Given the description of an element on the screen output the (x, y) to click on. 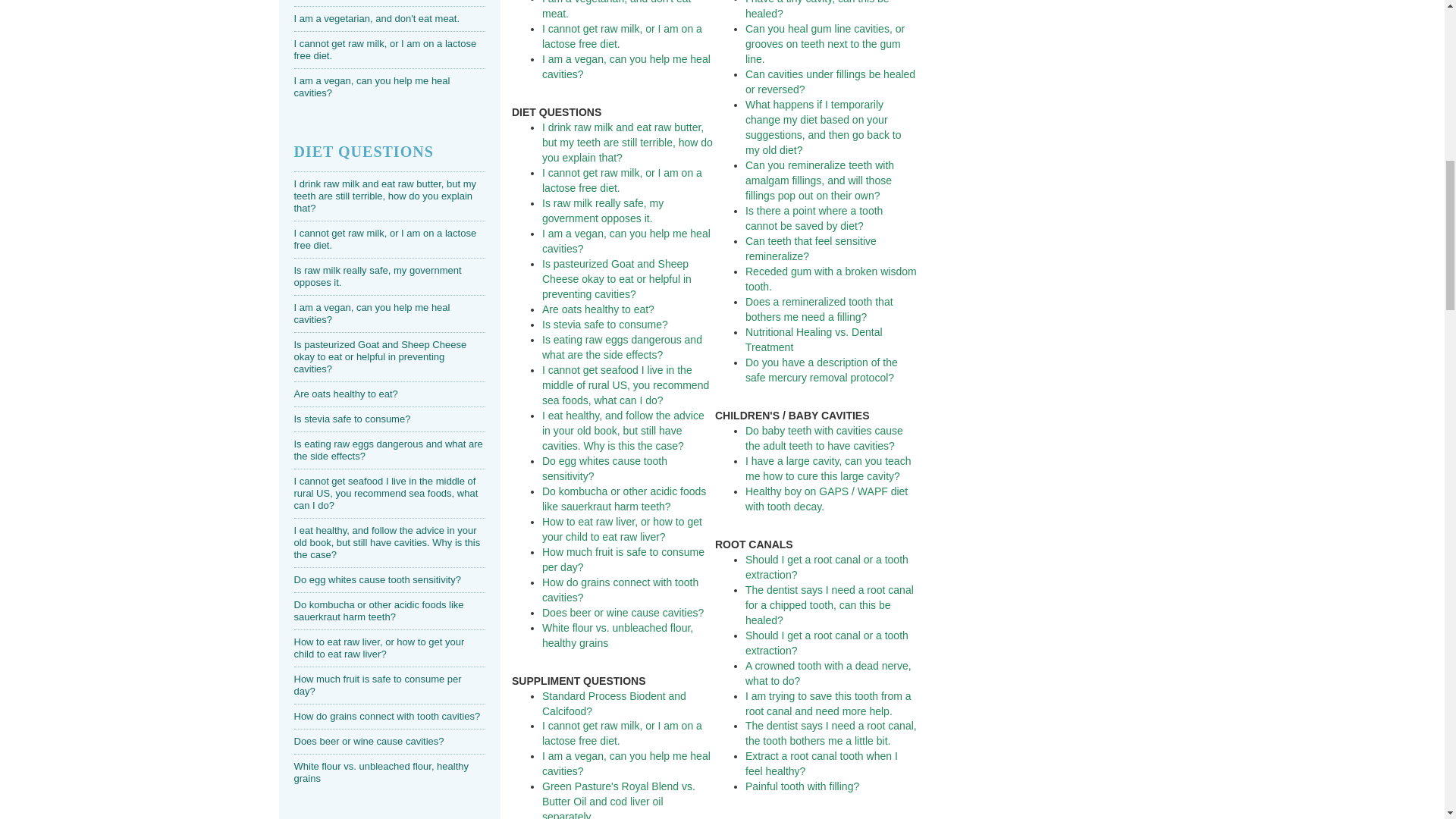
I am a vegan, can you help me heal cavities? (625, 240)
Is eating raw eggs dangerous and what are the side effects? (621, 347)
I am a vegan, can you help me heal cavities? (625, 66)
Do egg whites cause tooth sensitivity? (603, 468)
I cannot get raw milk, or I am on a lactose free diet. (621, 35)
Are oats healthy to eat? (597, 309)
Is stevia safe to consume? (604, 324)
I cannot get raw milk, or I am on a lactose free diet. (621, 180)
I am a vegetarian, and don't eat meat. (615, 9)
